Given the description of an element on the screen output the (x, y) to click on. 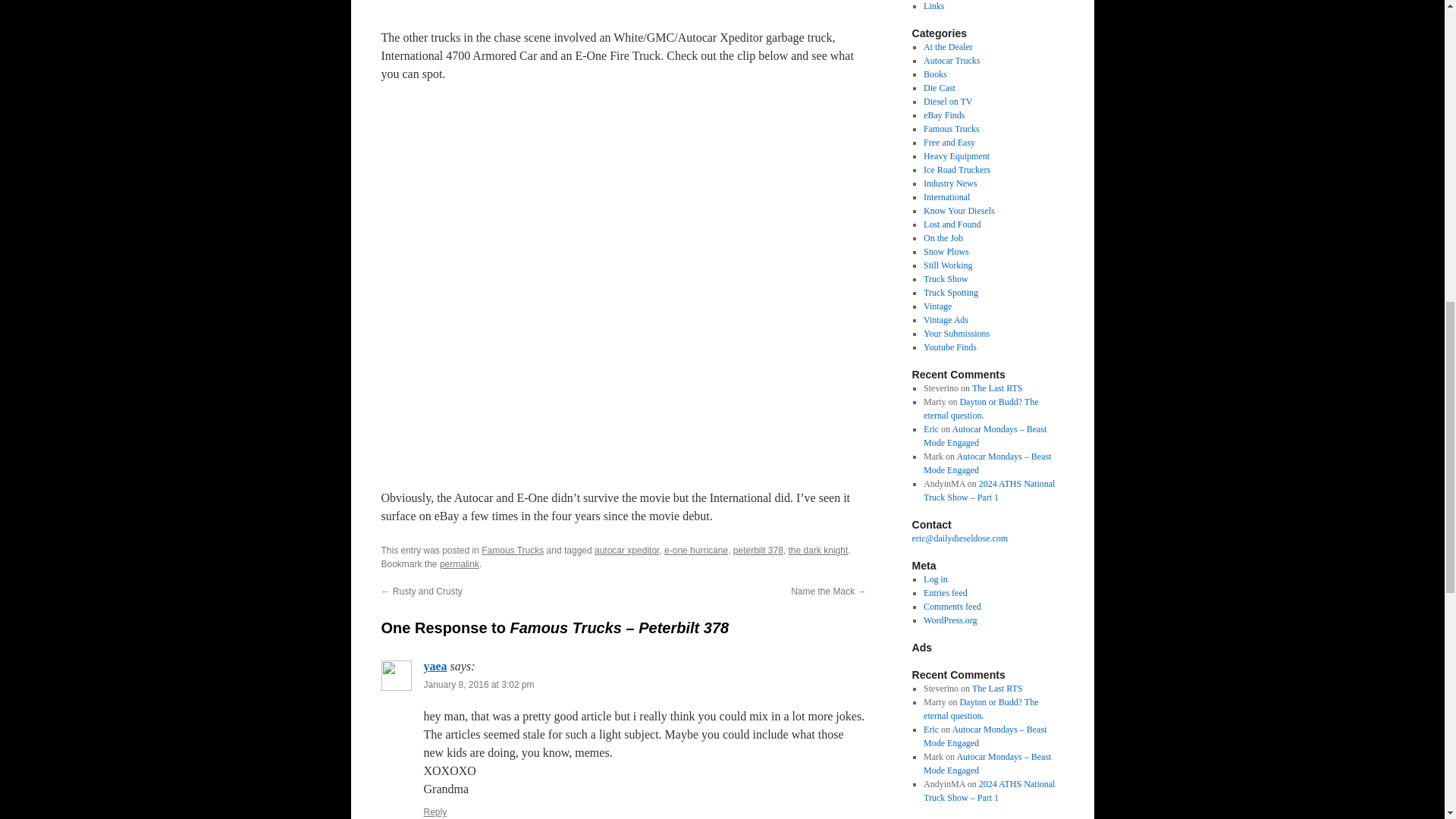
e-one hurricane (695, 550)
Famous Trucks (512, 550)
Reply (434, 811)
autocar xpeditor (626, 550)
the dark knight (818, 550)
yaea (434, 666)
January 8, 2016 at 3:02 pm (478, 684)
peterbilt 378 (758, 550)
permalink (459, 563)
